Given the description of an element on the screen output the (x, y) to click on. 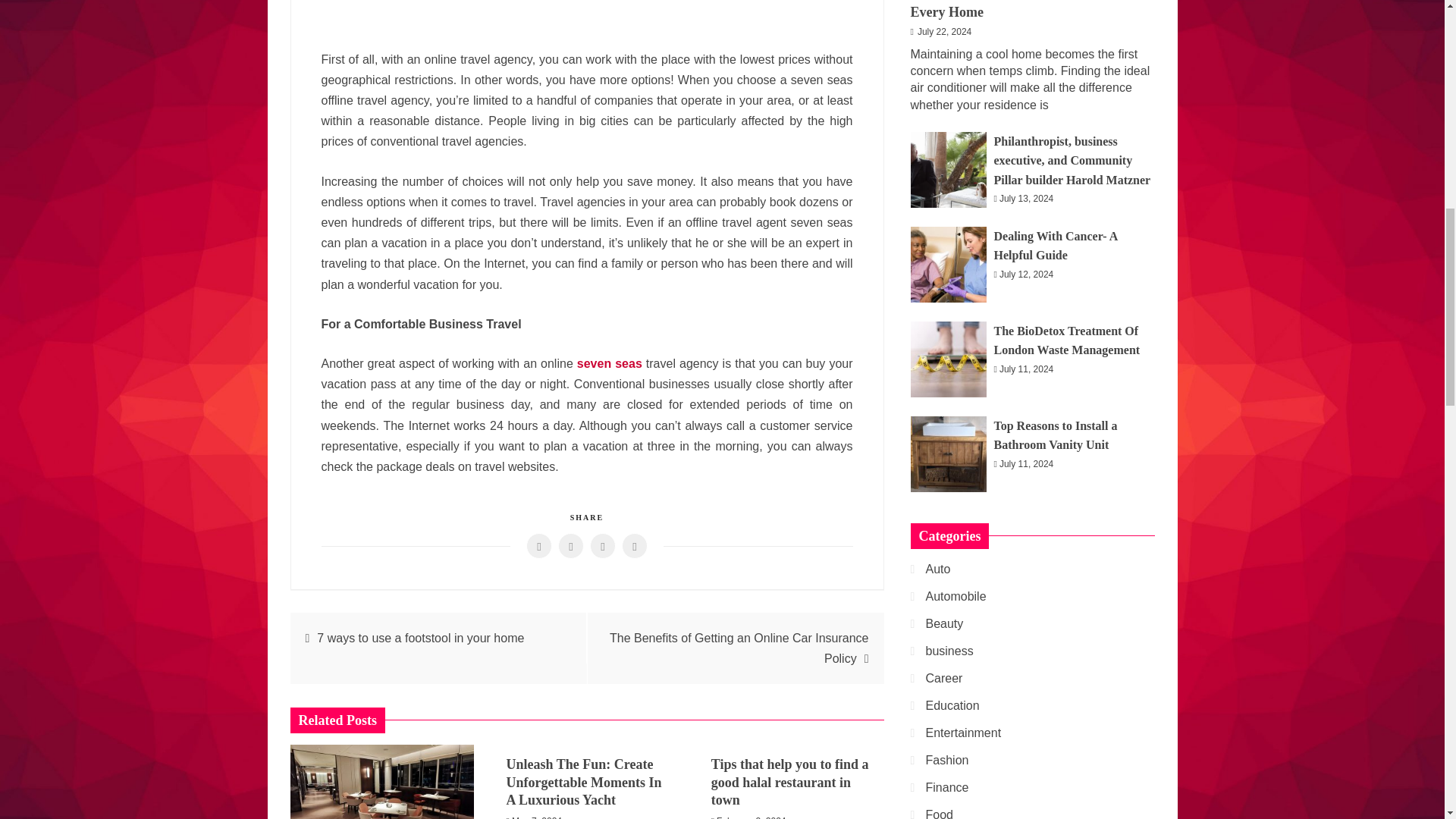
7 ways to use a footstool in your home (420, 637)
seven seas (609, 363)
The Benefits of Getting an Online Car Insurance Policy (739, 648)
